Given the description of an element on the screen output the (x, y) to click on. 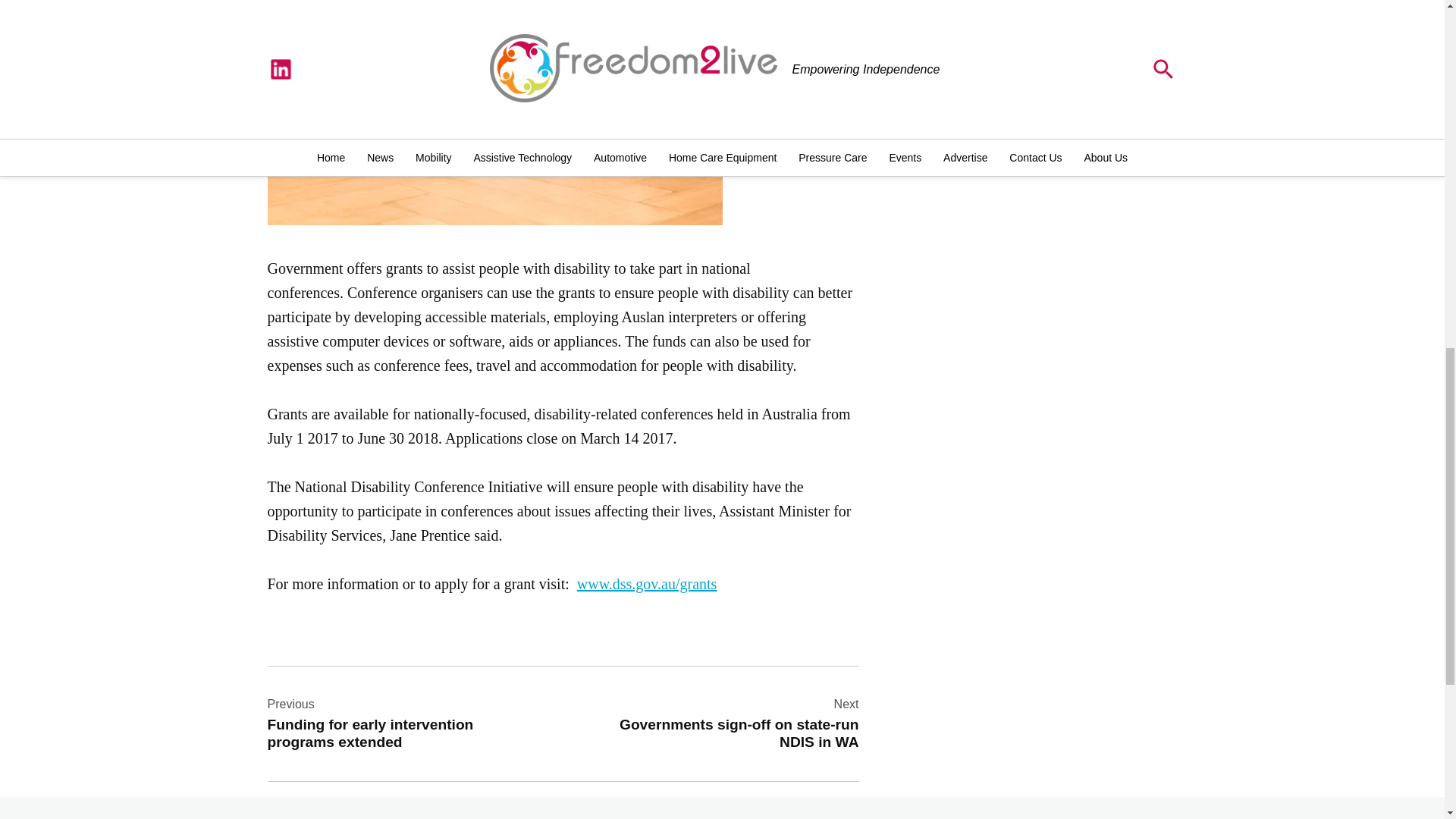
Submit (725, 722)
Submit (1041, 25)
